Given the description of an element on the screen output the (x, y) to click on. 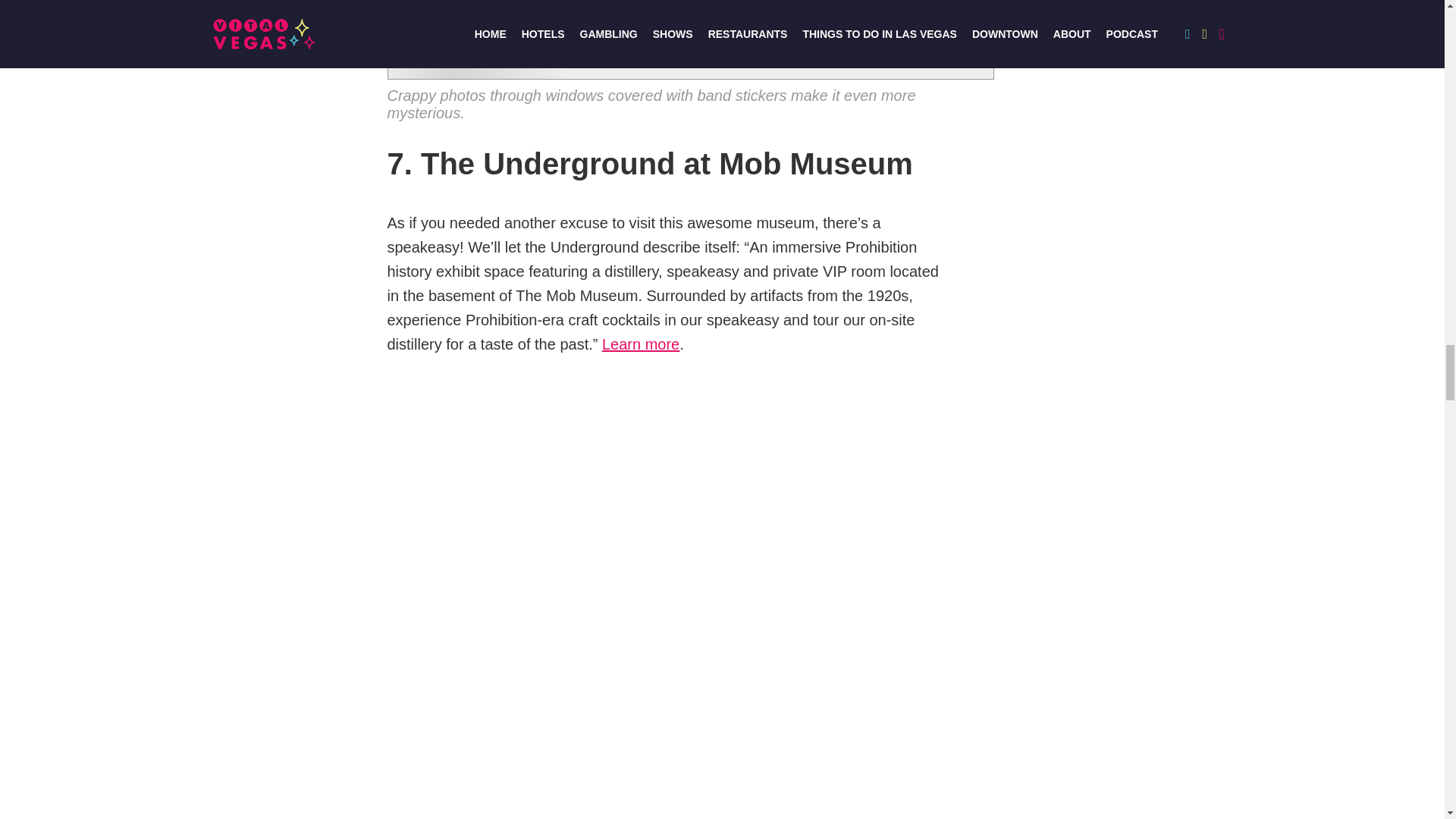
Learn more (640, 344)
